Given the description of an element on the screen output the (x, y) to click on. 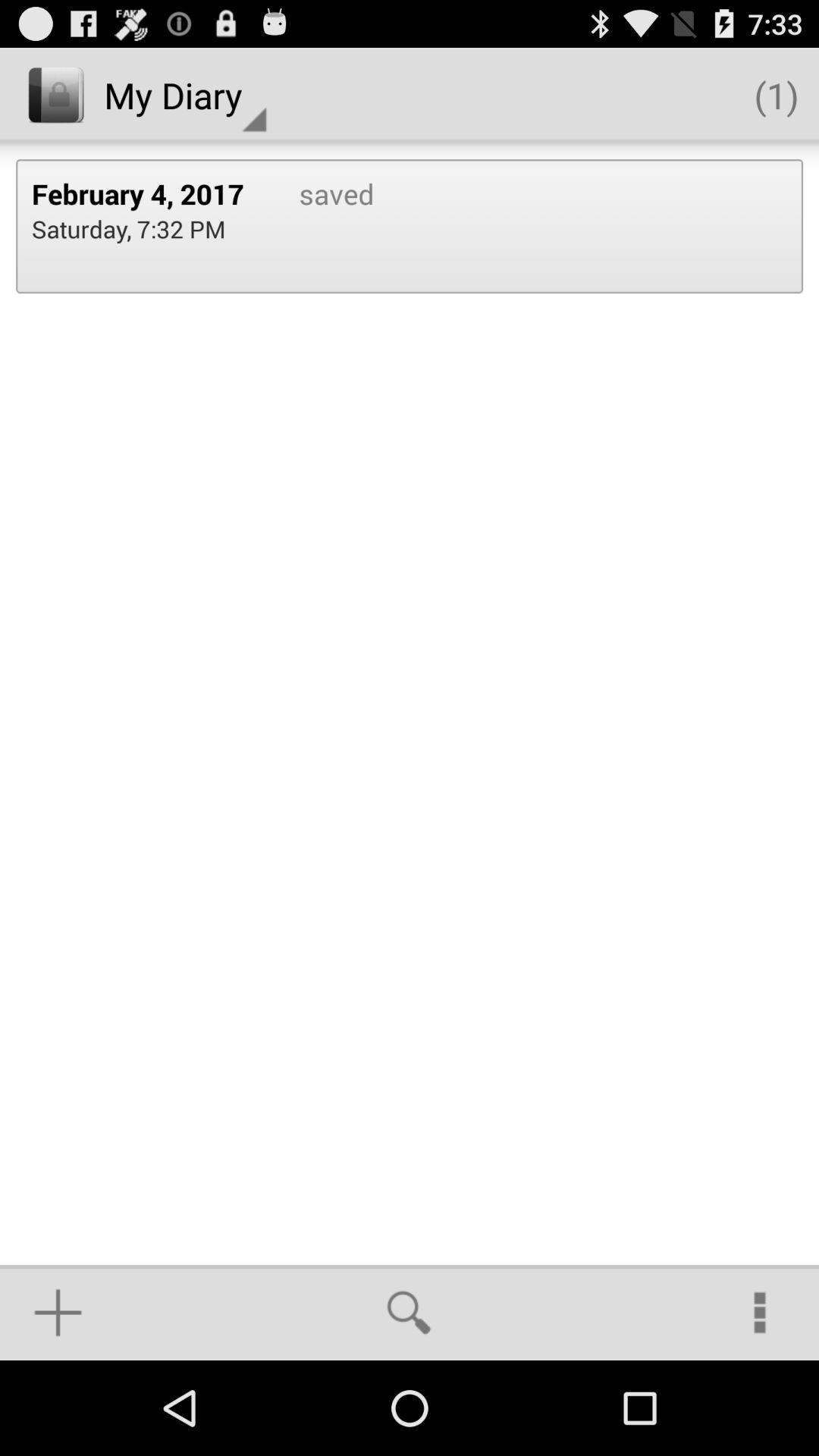
open app next to the february 4, 2017 (320, 226)
